Given the description of an element on the screen output the (x, y) to click on. 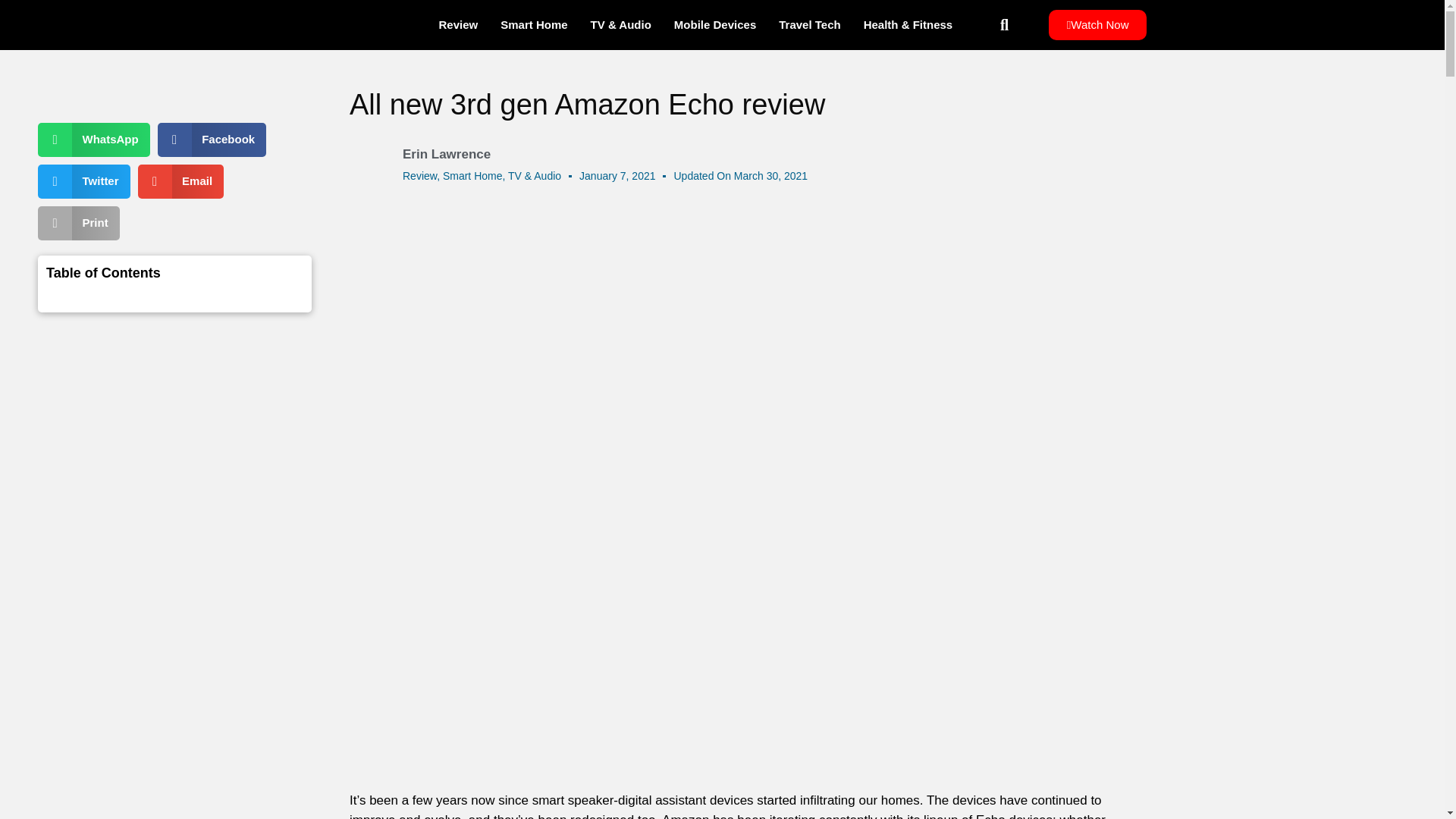
Review (458, 24)
Travel Tech (809, 24)
Smart Home (533, 24)
Review (419, 175)
January 7, 2021 (617, 176)
Smart Home (472, 175)
Watch Now (1097, 24)
Mobile Devices (714, 24)
